Given the description of an element on the screen output the (x, y) to click on. 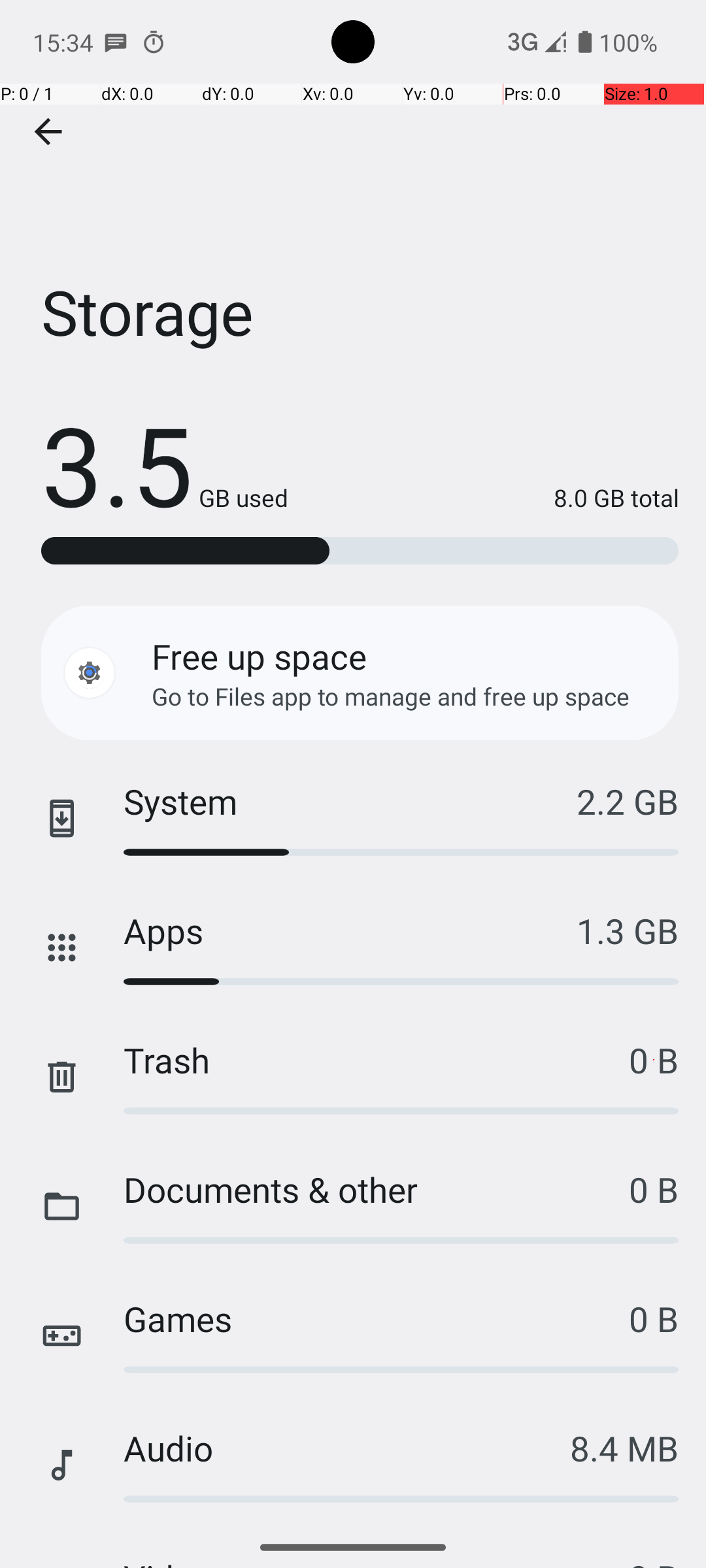
3.5 GB used Element type: android.widget.TextView (164, 463)
8.0 GB total Element type: android.widget.TextView (483, 497)
Free up space Element type: android.widget.TextView (258, 656)
Go to Files app to manage and free up space Element type: android.widget.TextView (390, 695)
2.2 GB Element type: android.widget.TextView (627, 801)
1.3 GB Element type: android.widget.TextView (627, 930)
0 B Element type: android.widget.TextView (653, 1059)
Documents & other Element type: android.widget.TextView (375, 1189)
Games Element type: android.widget.TextView (375, 1318)
8.4 MB Element type: android.widget.TextView (624, 1447)
